Given the description of an element on the screen output the (x, y) to click on. 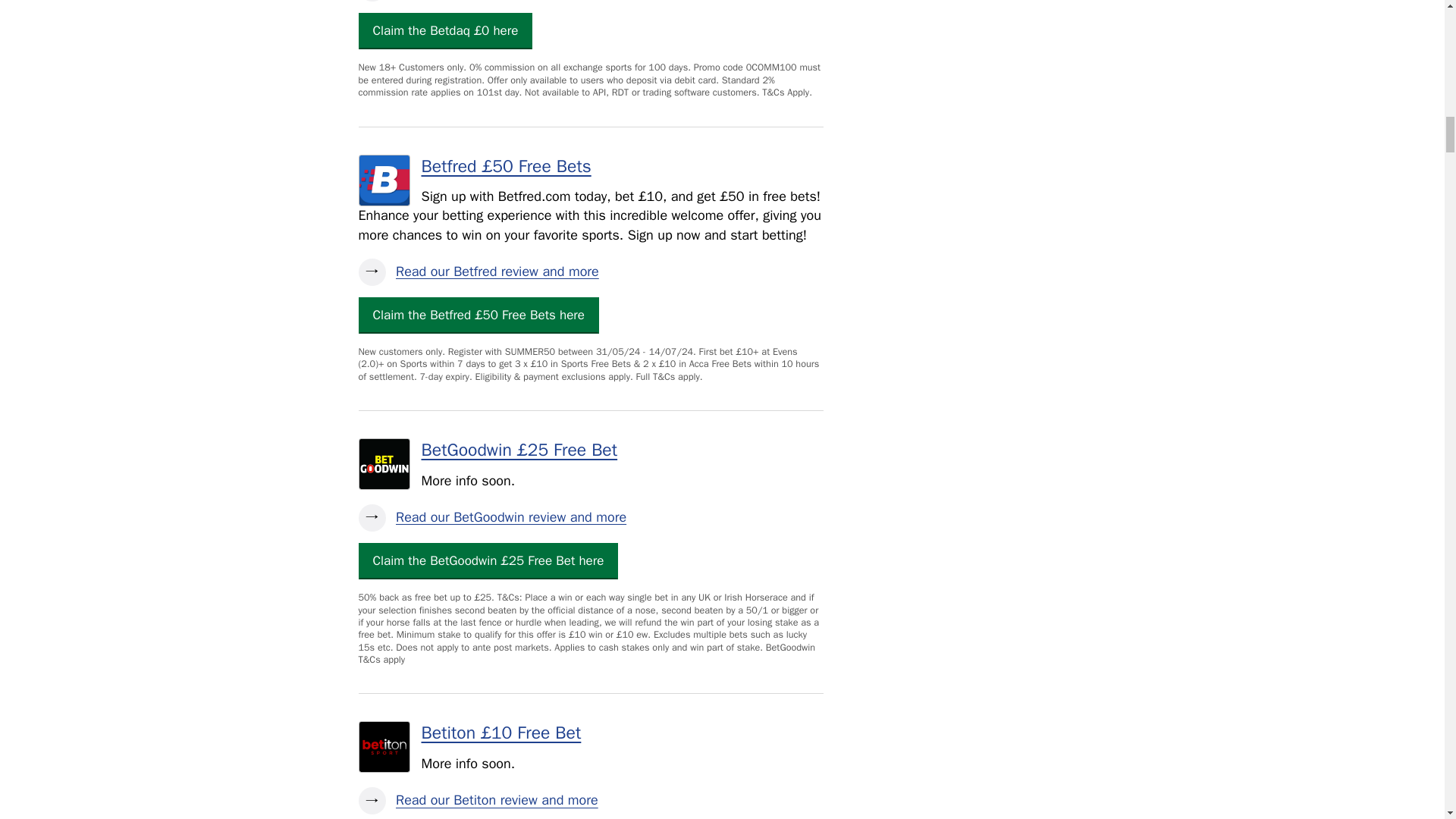
Read our Betiton review and more (590, 800)
Read our BetGoodwin review and more (590, 517)
Read our Betfred review and more (590, 271)
